Given the description of an element on the screen output the (x, y) to click on. 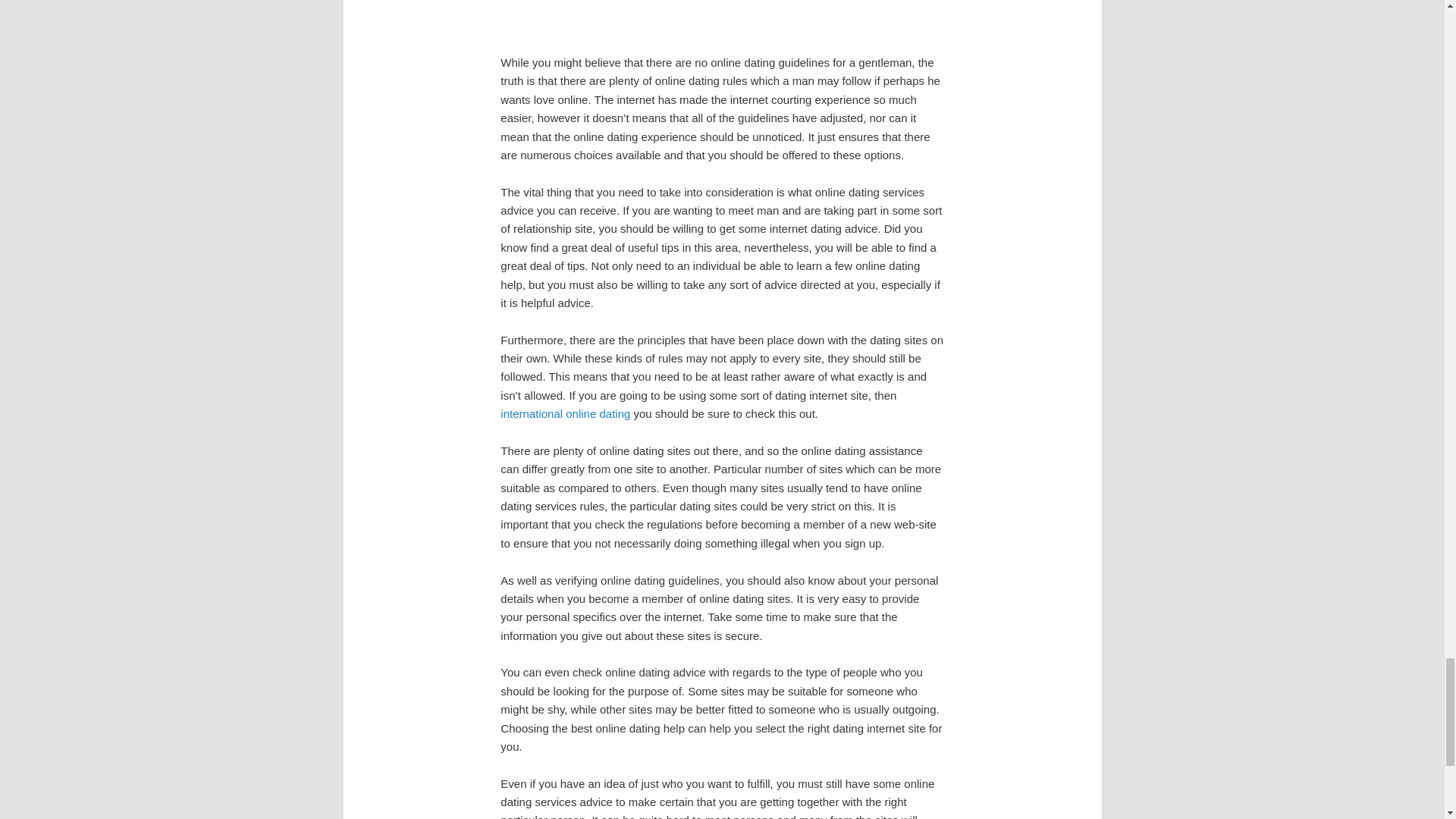
international online dating (565, 413)
